Given the description of an element on the screen output the (x, y) to click on. 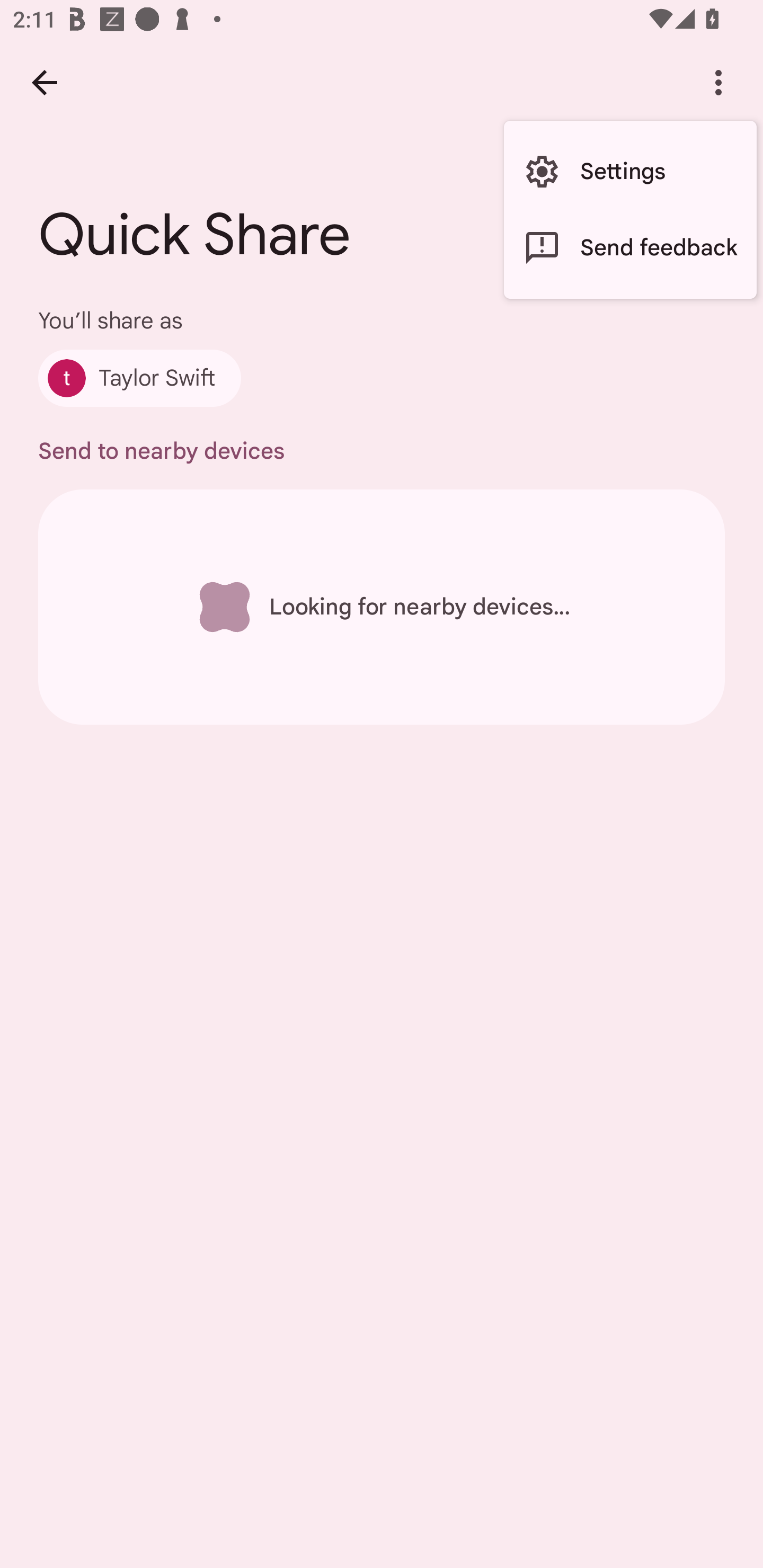
Settings (629, 171)
Send feedback (629, 247)
